Given the description of an element on the screen output the (x, y) to click on. 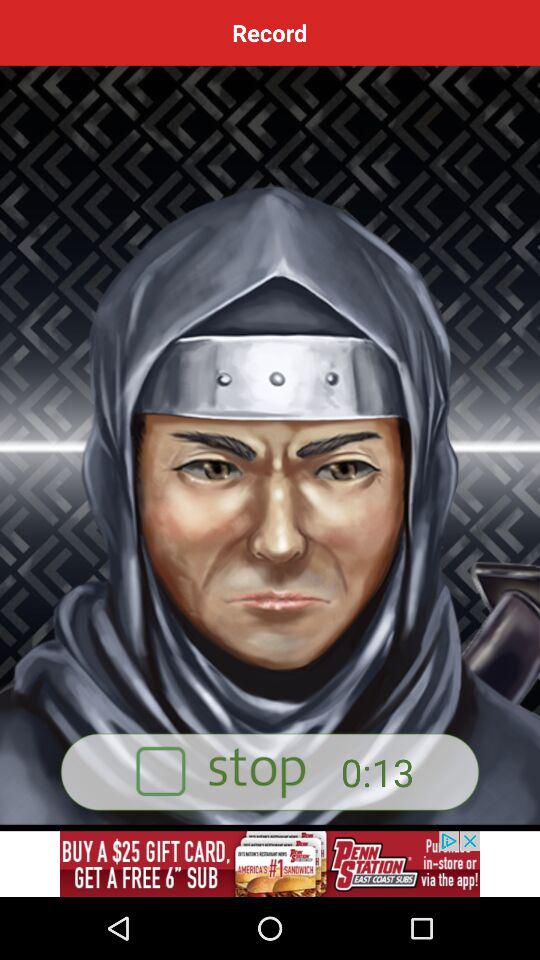
open advertisement (270, 864)
